Given the description of an element on the screen output the (x, y) to click on. 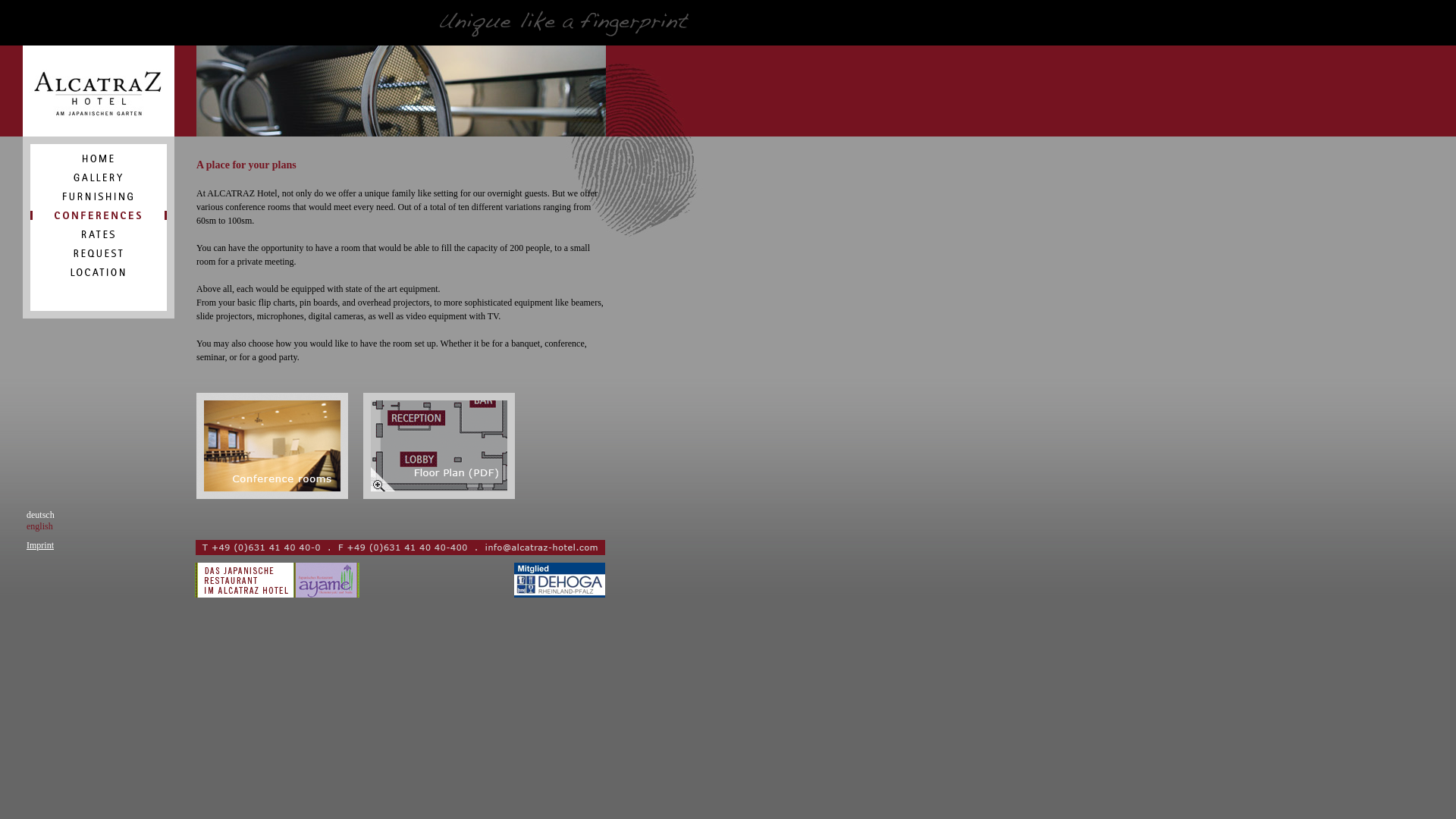
Imprint (39, 544)
Conferences (271, 495)
english (39, 525)
deutsch (40, 514)
